Given the description of an element on the screen output the (x, y) to click on. 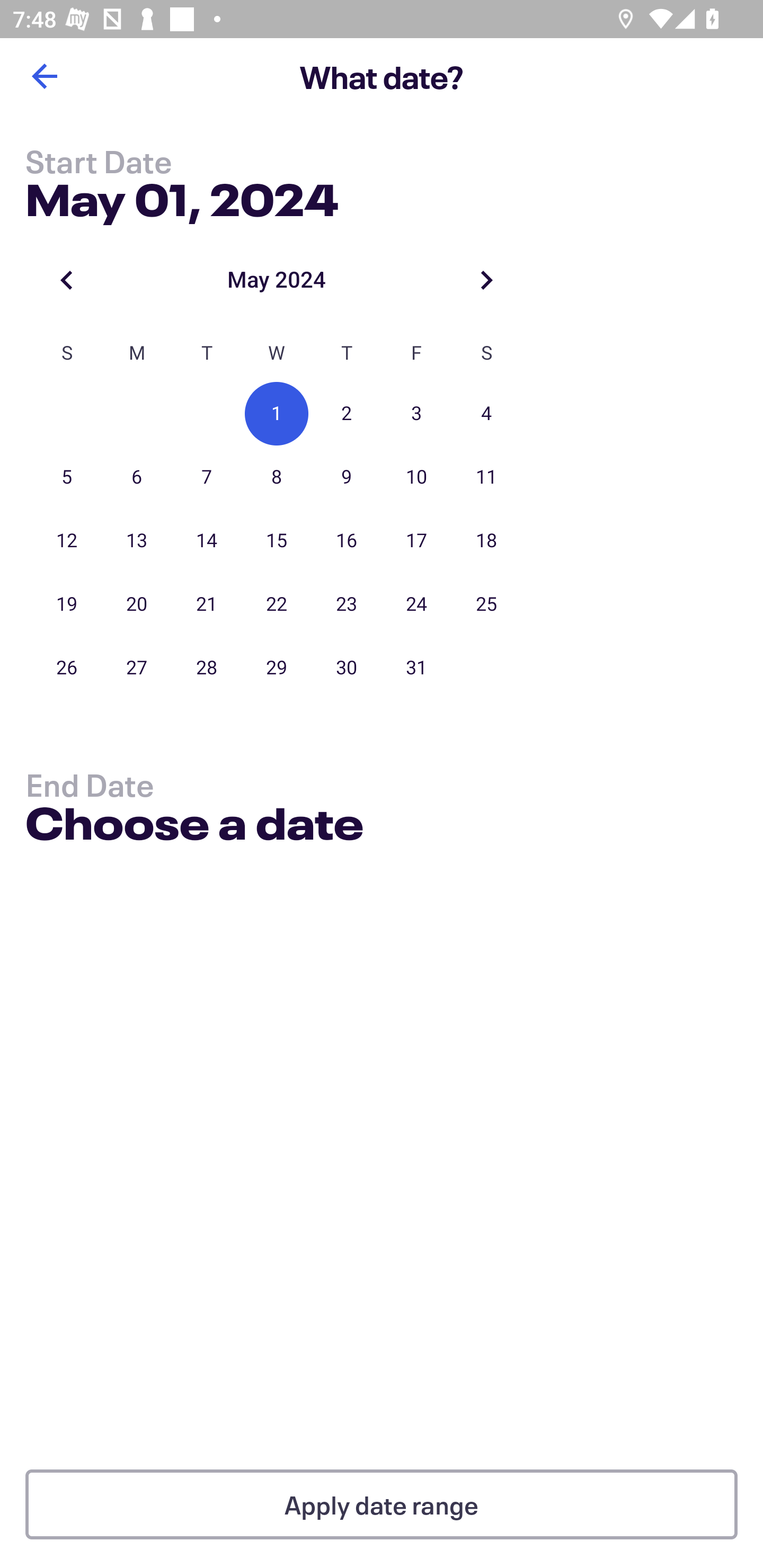
Back button (44, 75)
May 01, 2024 (181, 195)
Previous month (66, 279)
Next month (486, 279)
1 01 May 2024 (276, 413)
2 02 May 2024 (346, 413)
3 03 May 2024 (416, 413)
4 04 May 2024 (486, 413)
5 05 May 2024 (66, 477)
6 06 May 2024 (136, 477)
7 07 May 2024 (206, 477)
8 08 May 2024 (276, 477)
9 09 May 2024 (346, 477)
10 10 May 2024 (416, 477)
11 11 May 2024 (486, 477)
12 12 May 2024 (66, 540)
13 13 May 2024 (136, 540)
14 14 May 2024 (206, 540)
15 15 May 2024 (276, 540)
16 16 May 2024 (346, 540)
17 17 May 2024 (416, 540)
18 18 May 2024 (486, 540)
19 19 May 2024 (66, 604)
20 20 May 2024 (136, 604)
21 21 May 2024 (206, 604)
22 22 May 2024 (276, 604)
23 23 May 2024 (346, 604)
24 24 May 2024 (416, 604)
25 25 May 2024 (486, 604)
26 26 May 2024 (66, 667)
27 27 May 2024 (136, 667)
28 28 May 2024 (206, 667)
29 29 May 2024 (276, 667)
30 30 May 2024 (346, 667)
31 31 May 2024 (416, 667)
Choose a date (194, 826)
Apply date range (381, 1504)
